Given the description of an element on the screen output the (x, y) to click on. 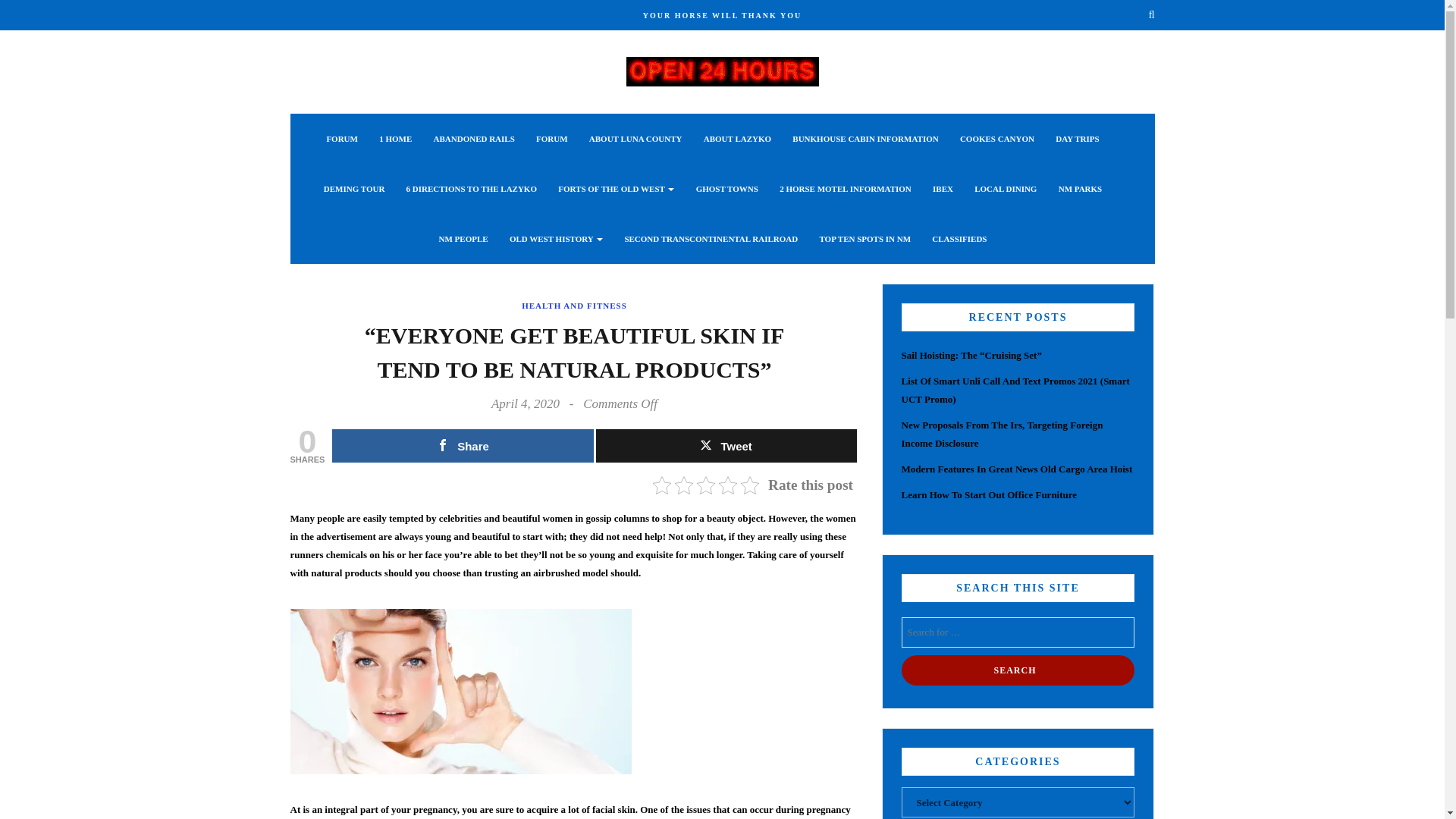
6 Directions to the LazyKo (471, 188)
LOCAL DINING (1005, 188)
BUNKHOUSE CABIN INFORMATION (864, 138)
SECOND TRANSCONTINENTAL RAILROAD (710, 238)
Forts of the Old West (615, 188)
TOP TEN SPOTS IN NM (864, 238)
Abandoned Rails (474, 138)
Cookes Canyon (996, 138)
Search (1017, 670)
NM PEOPLE (463, 238)
About Luna County (635, 138)
Welcome to the Lazy KO Ranch (722, 70)
ABOUT LAZYKO (737, 138)
BunkHouse Cabin Information (864, 138)
FORTS OF THE OLD WEST (615, 188)
